Given the description of an element on the screen output the (x, y) to click on. 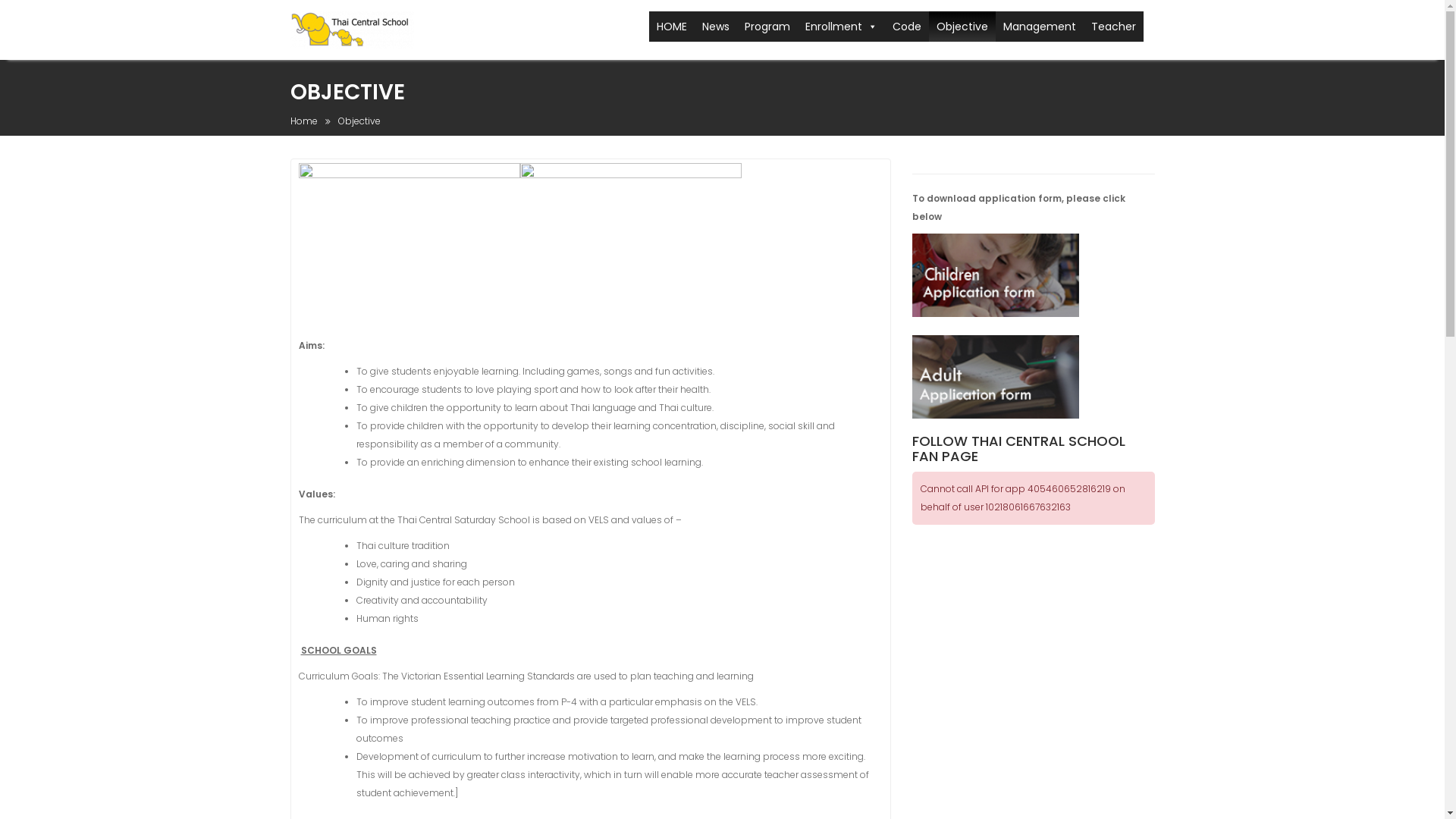
Code Element type: text (906, 26)
Enrollment Element type: text (840, 26)
Objective Element type: text (961, 26)
Program Element type: text (767, 26)
HOME Element type: text (671, 26)
Home Element type: text (302, 121)
Management Element type: text (1038, 26)
News Element type: text (715, 26)
Teacher Element type: text (1112, 26)
